Given the description of an element on the screen output the (x, y) to click on. 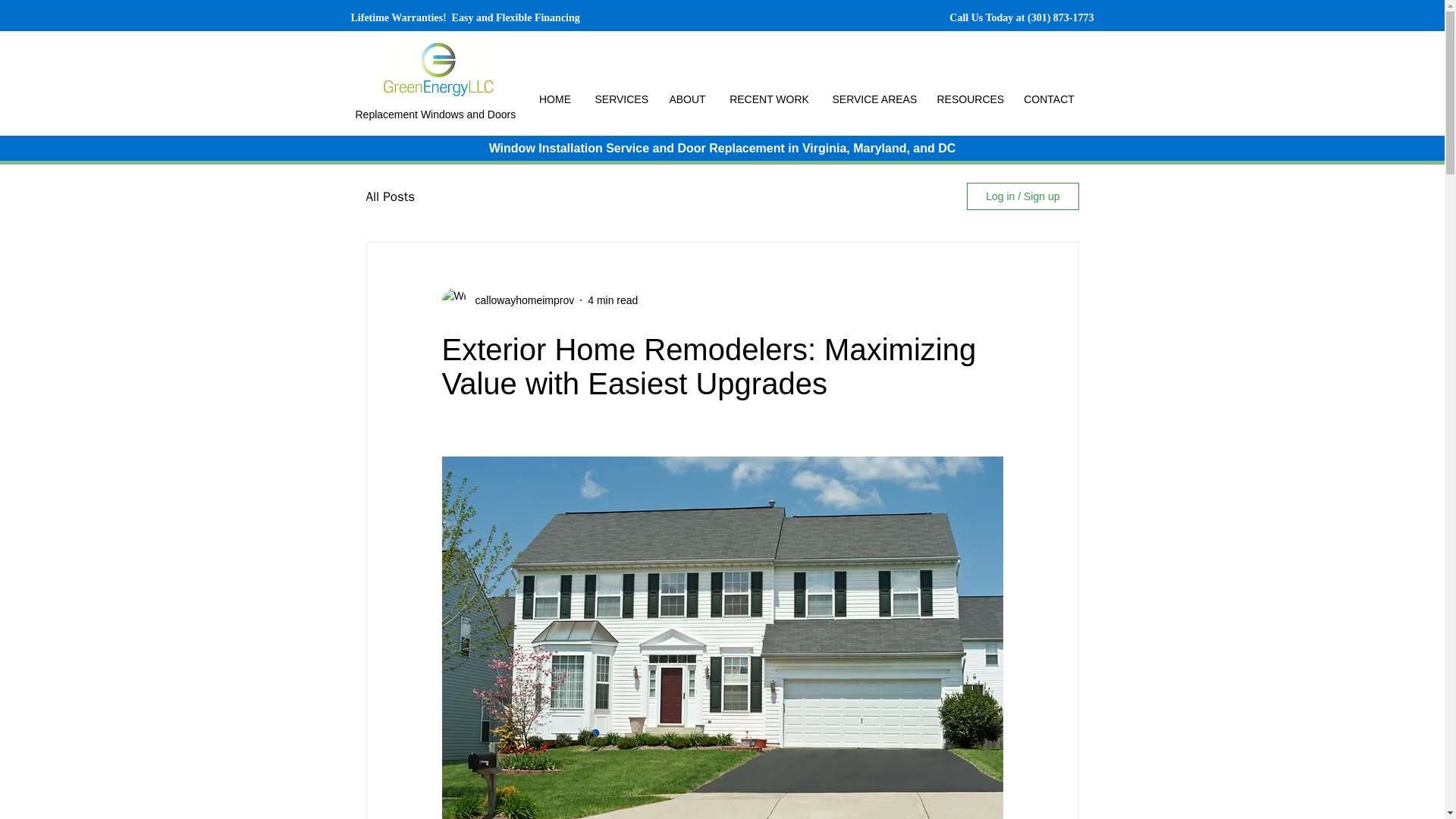
HOME (554, 99)
Replacement Windows Maryland (440, 69)
SERVICES (620, 99)
ABOUT (686, 99)
4 min read (612, 300)
All Posts (389, 196)
RECENT WORK (769, 99)
CONTACT (1048, 99)
callowayhomeimprov (519, 300)
